Given the description of an element on the screen output the (x, y) to click on. 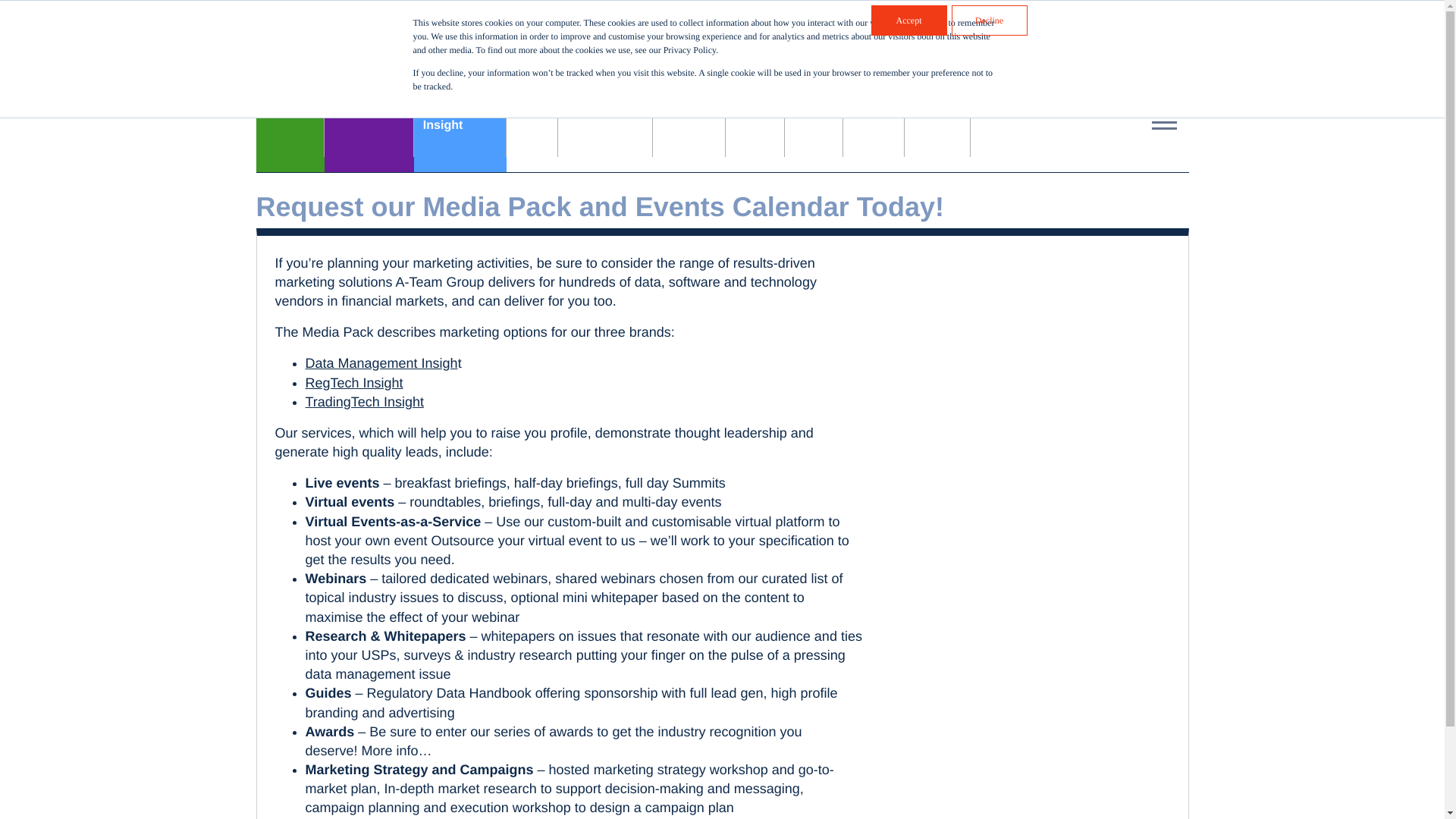
ABOUT A-TEAM (851, 25)
Decline (988, 20)
Sign up for our newsletter (368, 124)
Accept (961, 65)
MARKETING SERVICES (459, 124)
